Given the description of an element on the screen output the (x, y) to click on. 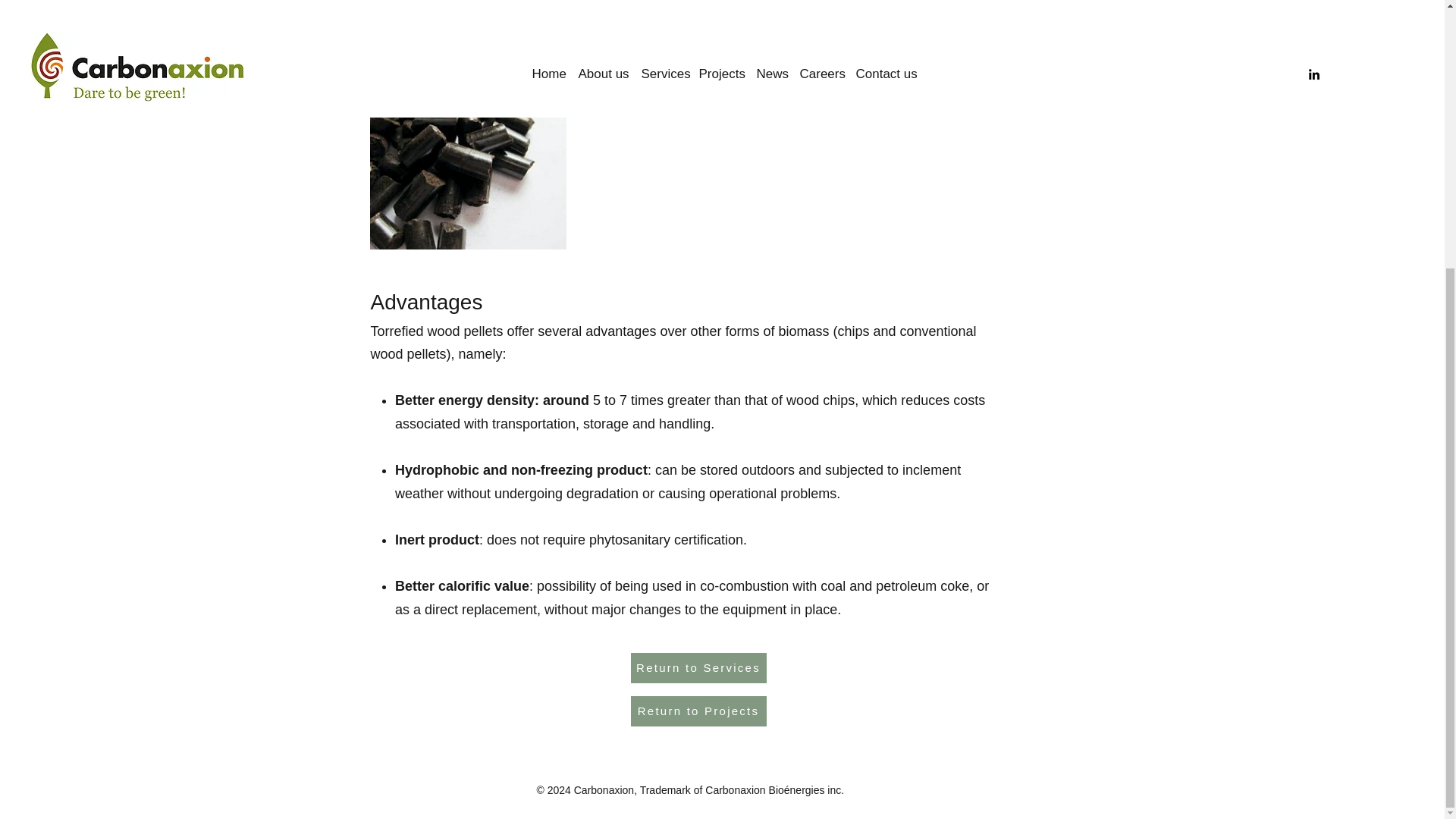
Return to Projects (698, 711)
Return to Services (698, 667)
